Given the description of an element on the screen output the (x, y) to click on. 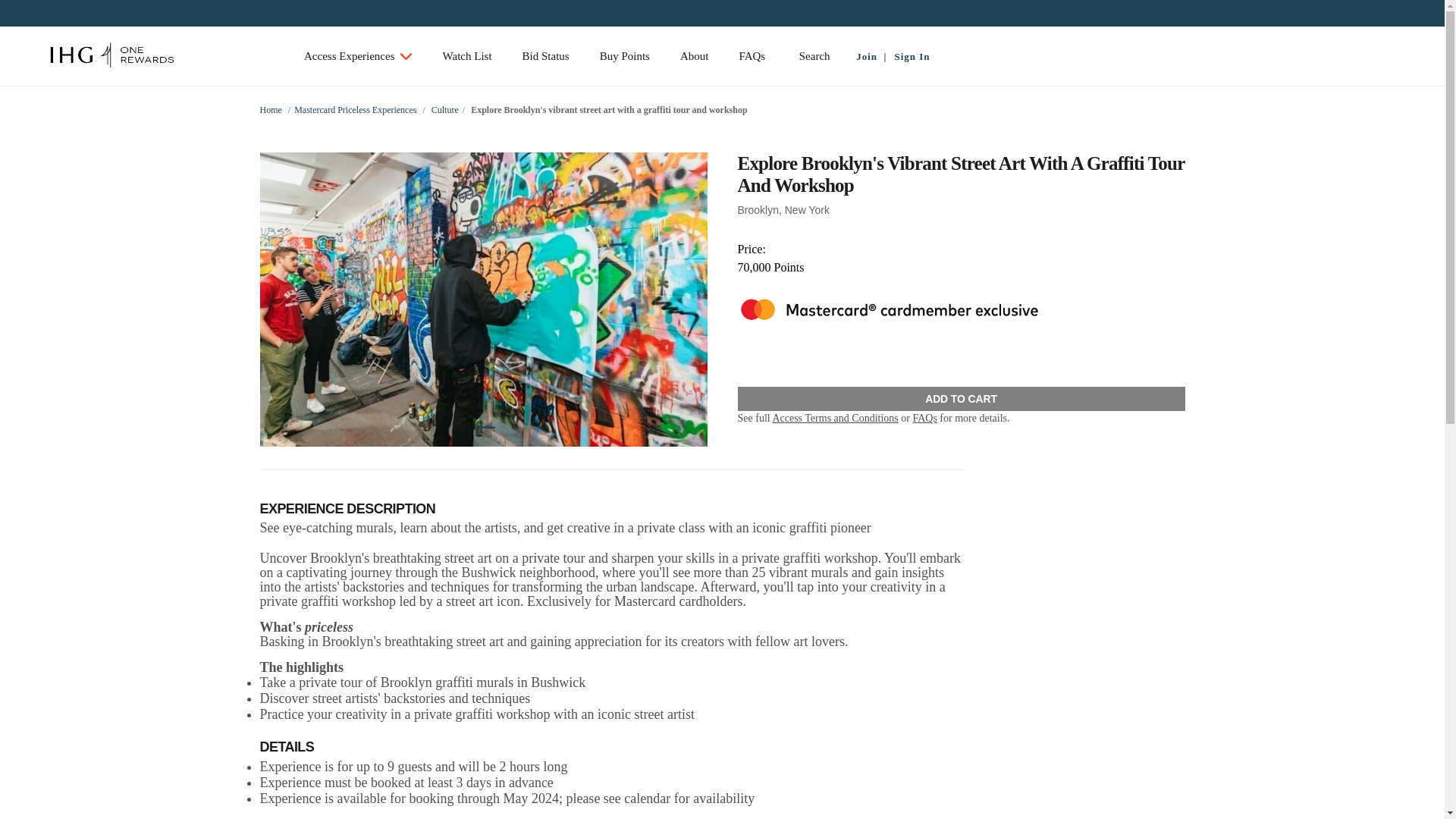
Mastercard Priceless Experiences (355, 109)
ADD TO CART (960, 398)
1 (484, 423)
Access Experiences (358, 56)
Access Terms and Conditions (834, 418)
Home (270, 109)
Sign In (908, 56)
FAQs (924, 418)
Culture (444, 109)
